Given the description of an element on the screen output the (x, y) to click on. 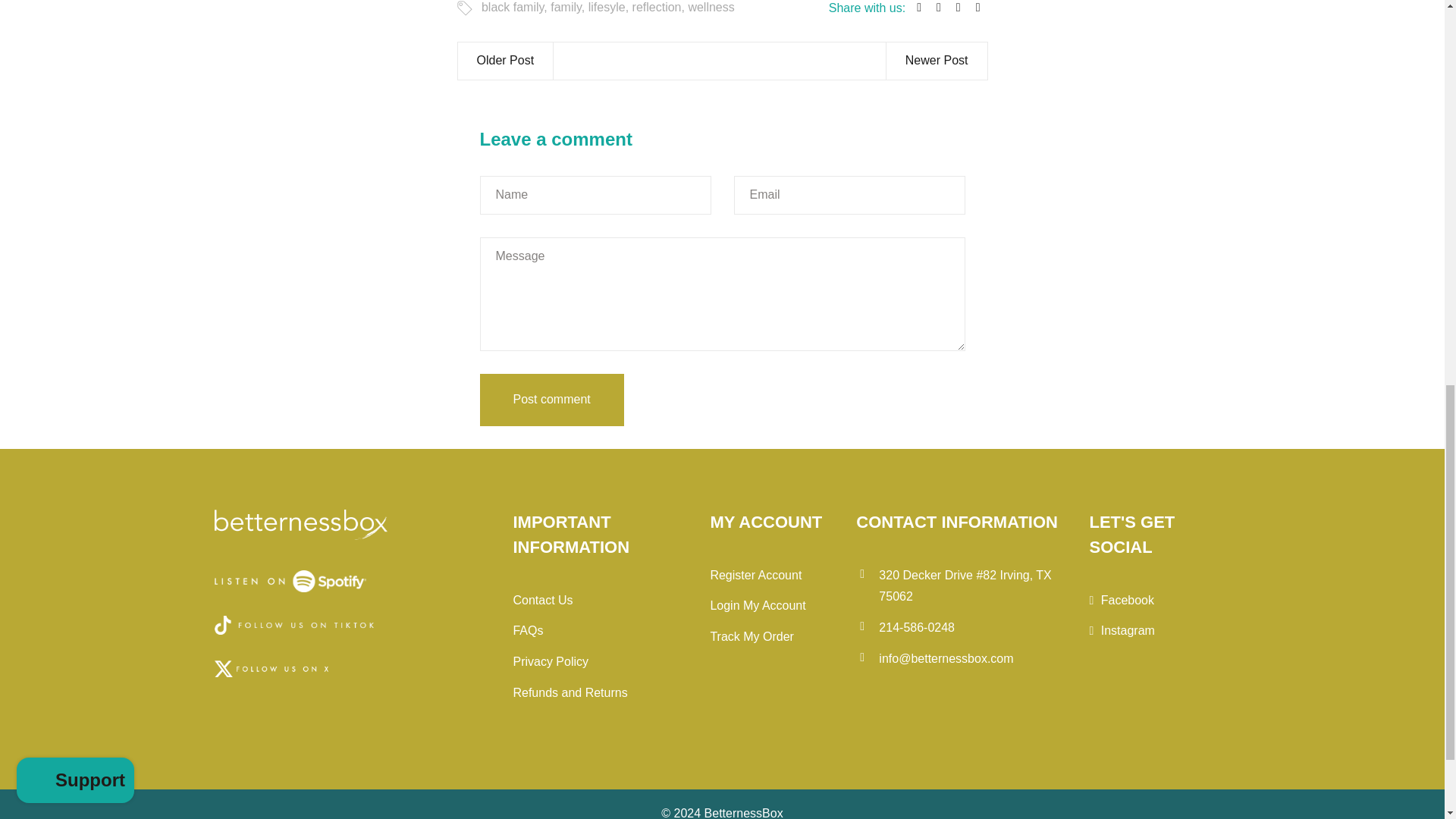
wellness (710, 6)
reflection (656, 6)
Facebook (1121, 599)
Refunds and Returns (569, 692)
Register Account (756, 574)
Post comment (551, 399)
Newer Post (936, 60)
family (565, 6)
Older Post (506, 60)
Login My Account (757, 604)
